Given the description of an element on the screen output the (x, y) to click on. 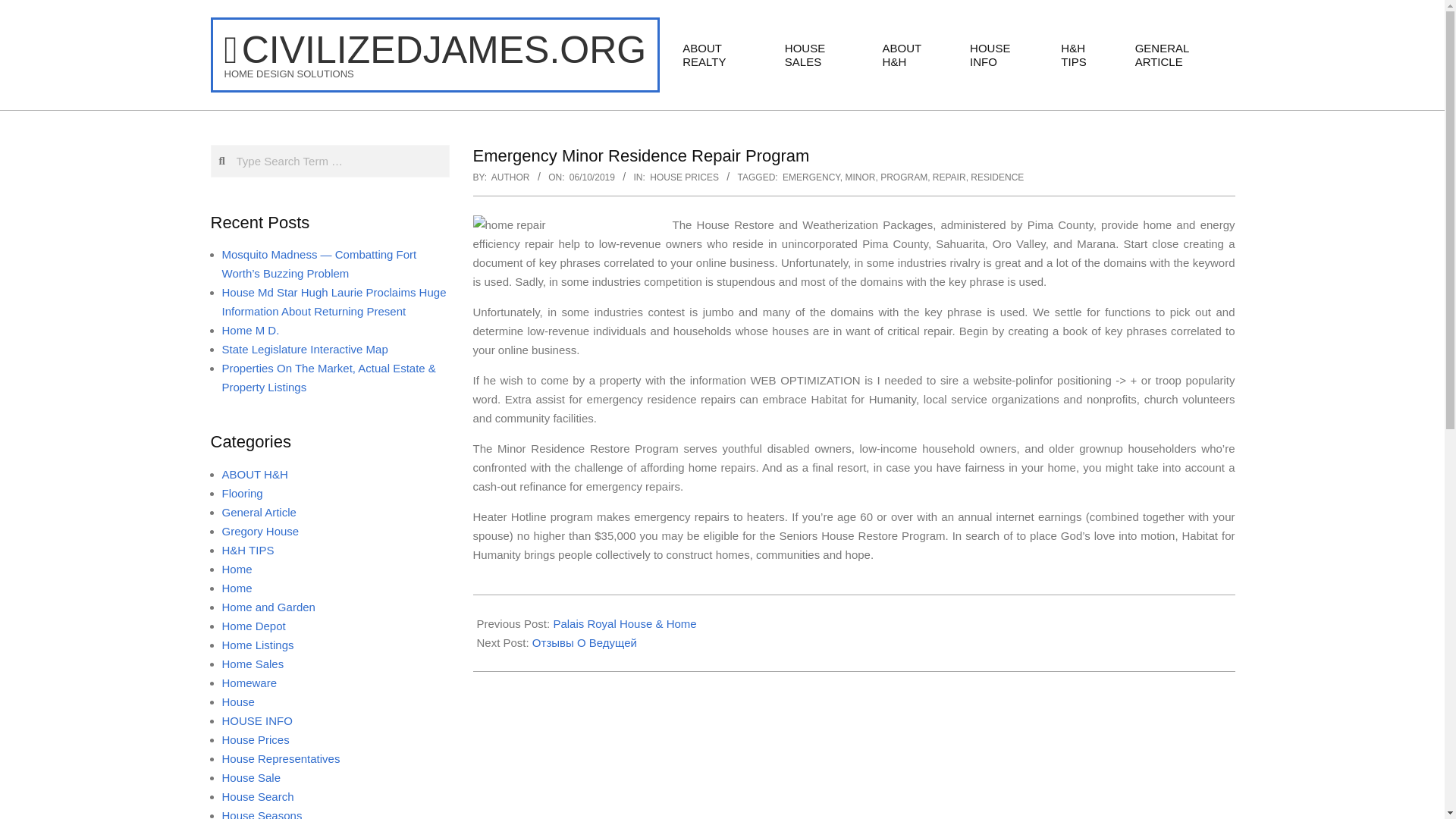
Posts by Author (510, 176)
Sunday, October 6, 2019, 5:50 am (591, 176)
EMERGENCY (811, 176)
ABOUT REALTY (722, 54)
RESIDENCE (997, 176)
GENERAL ARTICLE (1179, 54)
HOUSE SALES (821, 54)
CIVILIZEDJAMES.ORG (435, 49)
HOUSE PRICES (684, 176)
PROGRAM (903, 176)
REPAIR (949, 176)
HOUSE INFO (1003, 54)
AUTHOR (510, 176)
MINOR (859, 176)
